Given the description of an element on the screen output the (x, y) to click on. 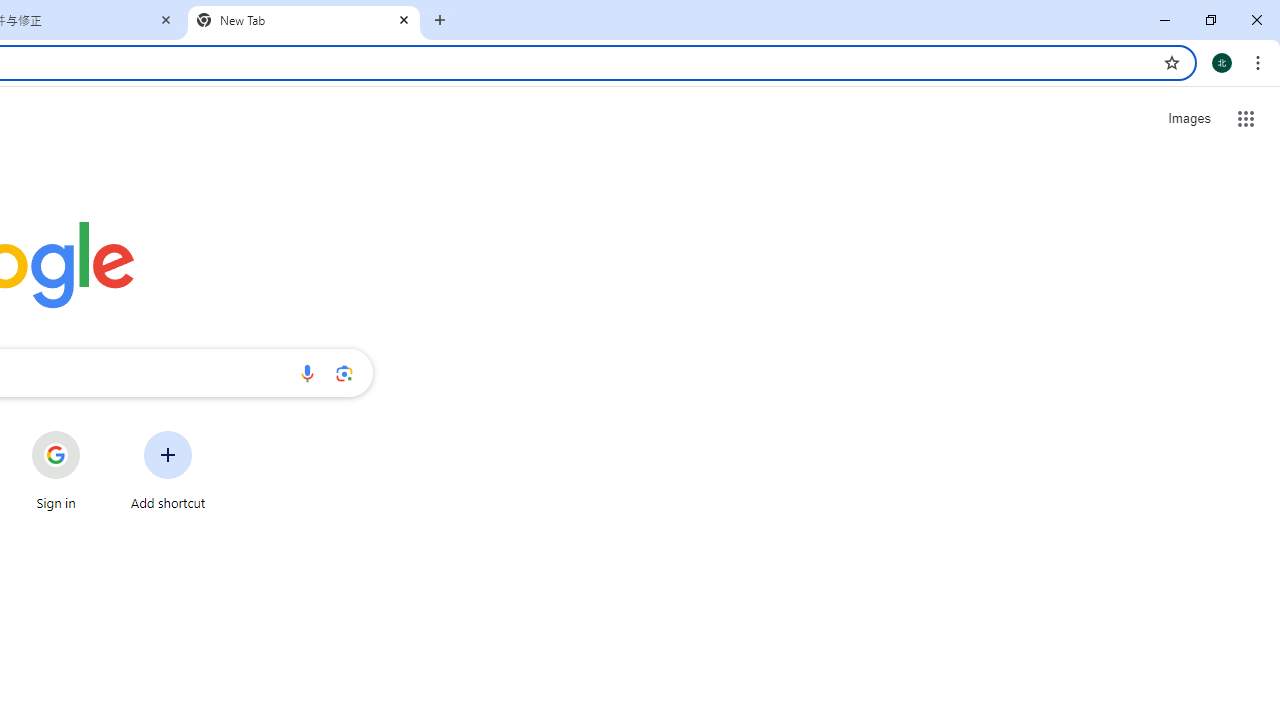
Chat, row 3 of 5 and column 1 of 3 in the first section (994, 421)
